Given the description of an element on the screen output the (x, y) to click on. 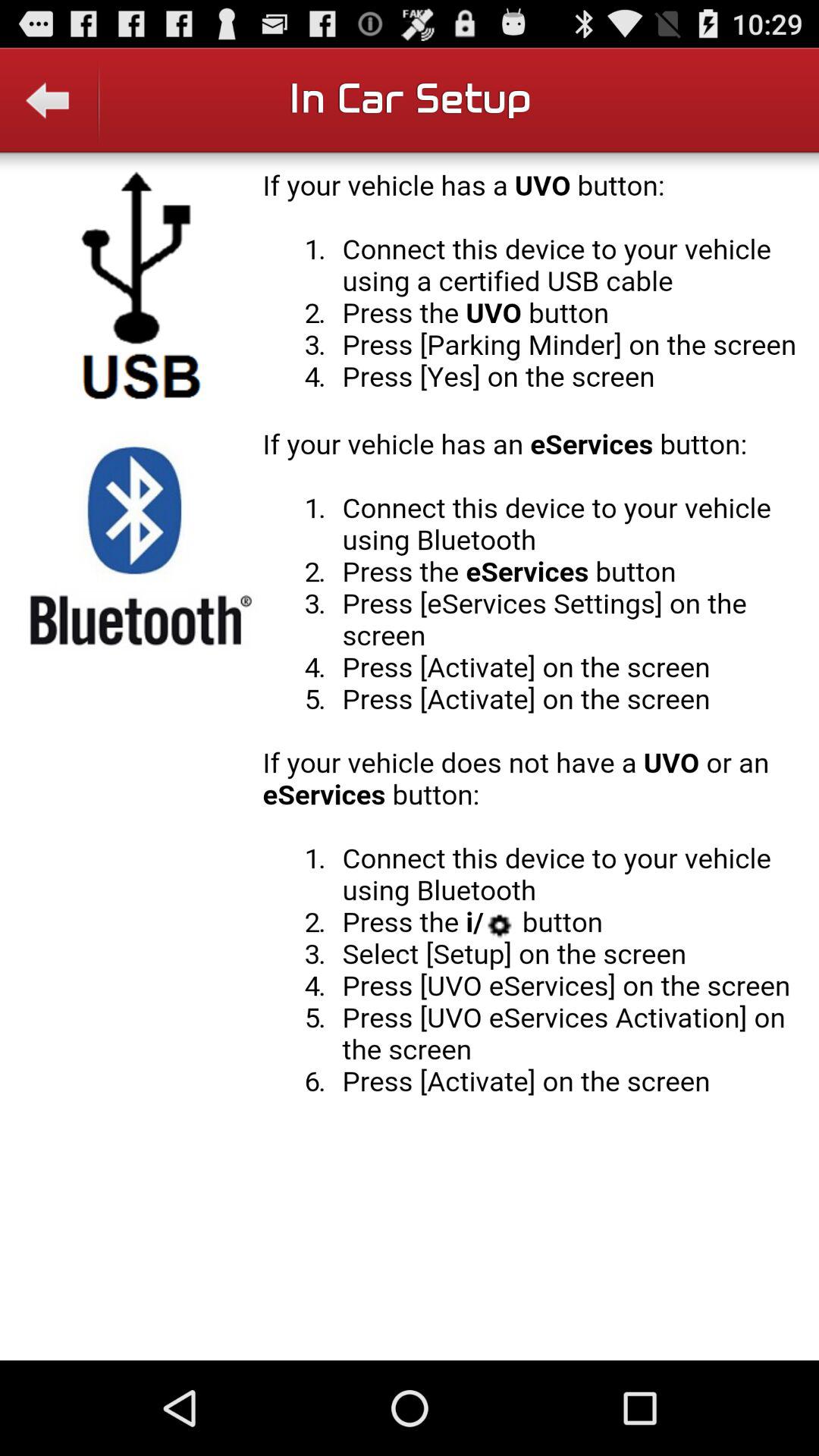
display field (409, 755)
